Given the description of an element on the screen output the (x, y) to click on. 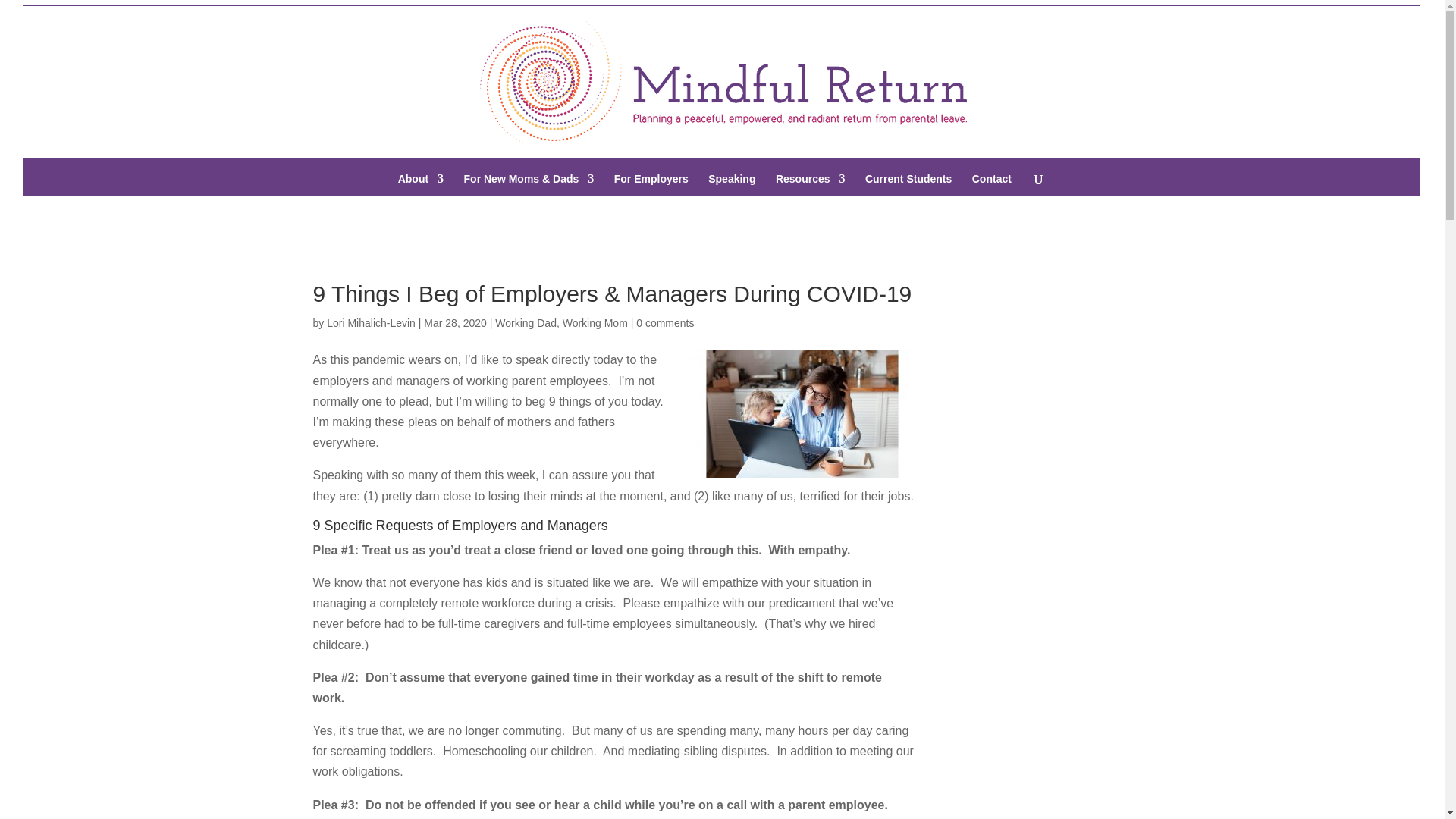
Working Mom (594, 322)
Posts by Lori Mihalich-Levin (370, 322)
Speaking (731, 184)
For Employers (651, 184)
Resources (810, 184)
Working Dad (525, 322)
About (420, 184)
0 comments (665, 322)
Contact (991, 184)
Lori Mihalich-Levin (370, 322)
